Given the description of an element on the screen output the (x, y) to click on. 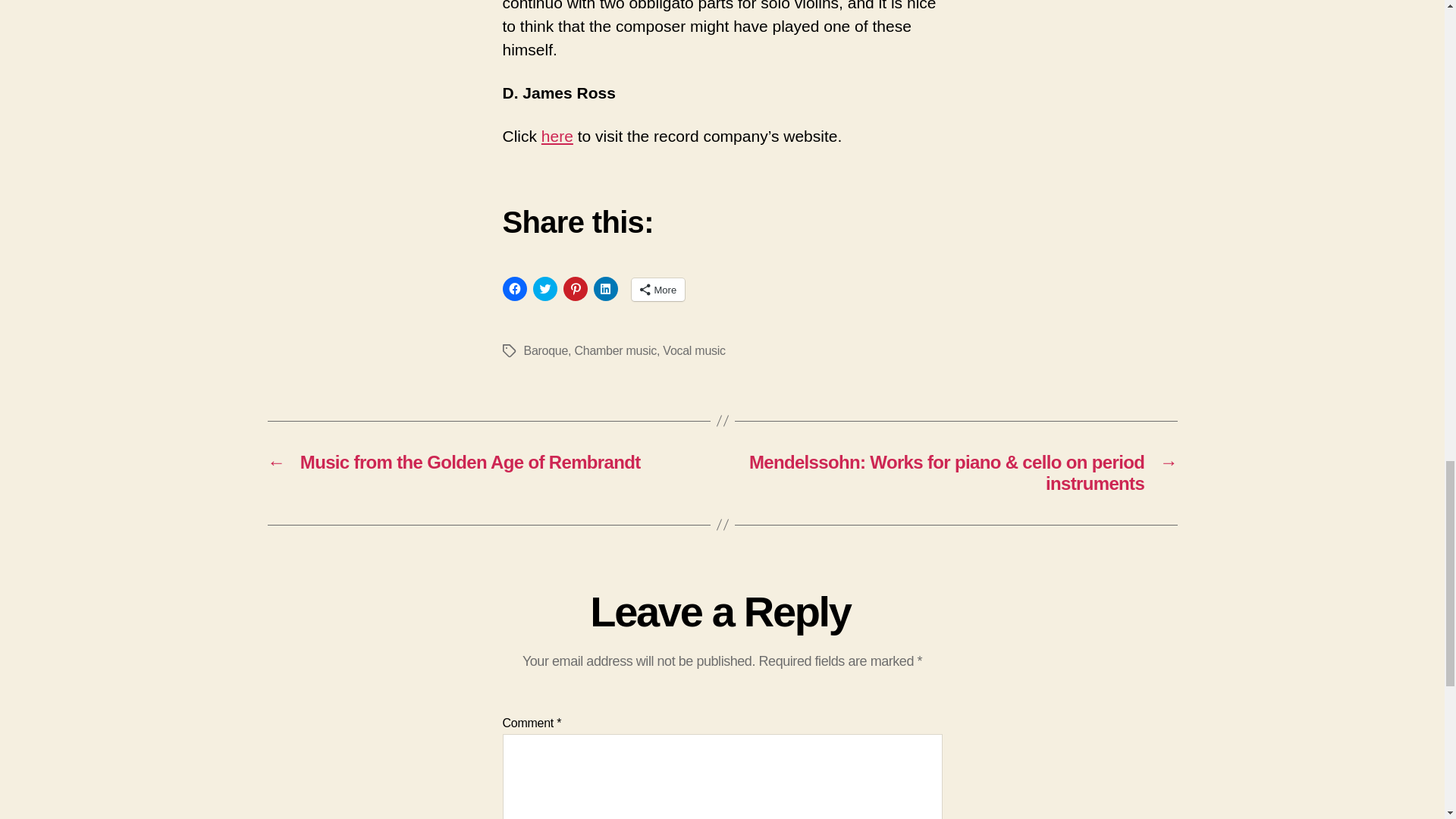
here (557, 135)
Chamber music (614, 350)
Click to share on Pinterest (574, 288)
Click to share on LinkedIn (604, 288)
Click to share on Twitter (544, 288)
Baroque (544, 350)
Click to share on Facebook (513, 288)
Vocal music (693, 350)
More (657, 289)
